Given the description of an element on the screen output the (x, y) to click on. 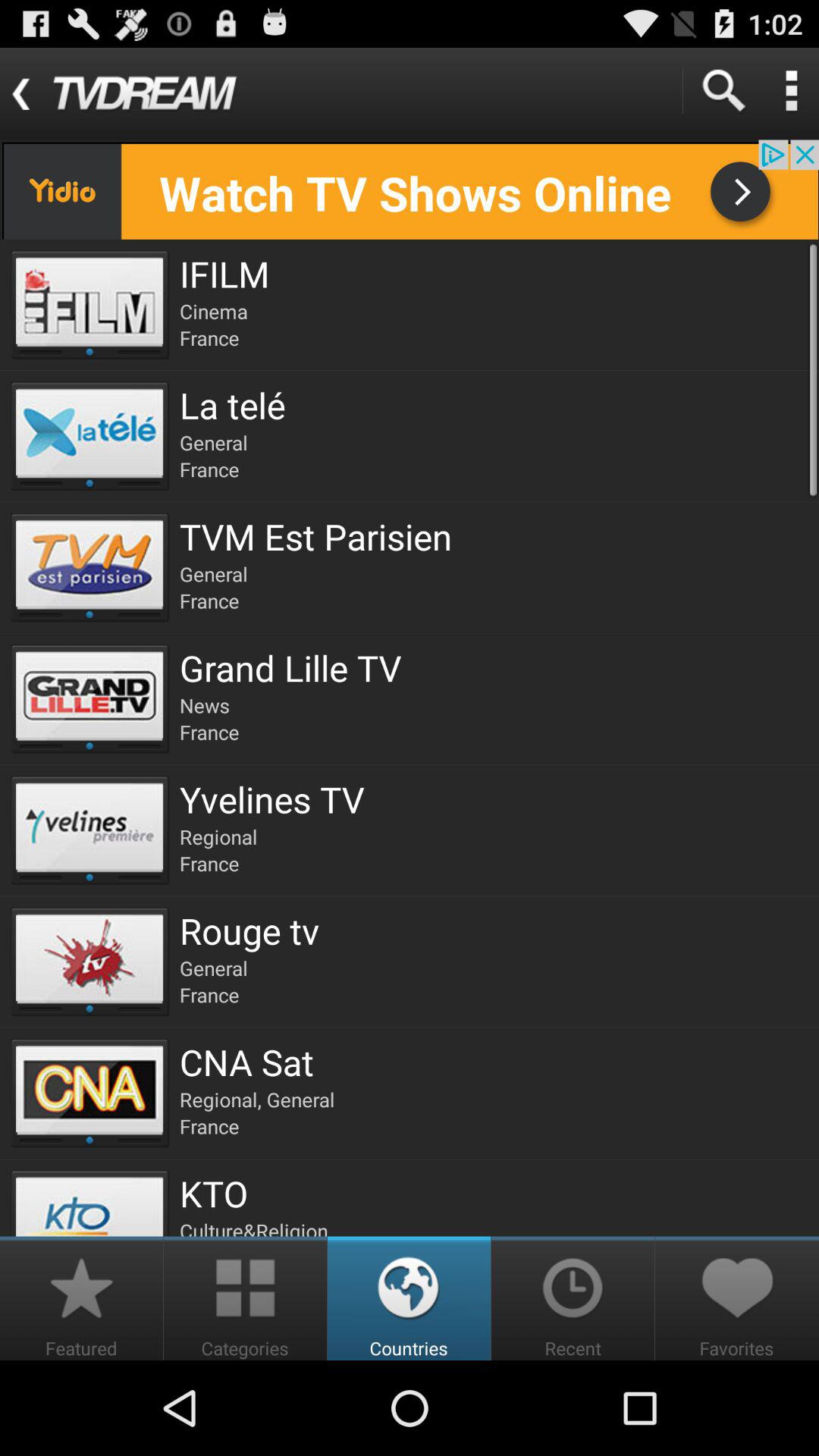
search option (723, 90)
